Given the description of an element on the screen output the (x, y) to click on. 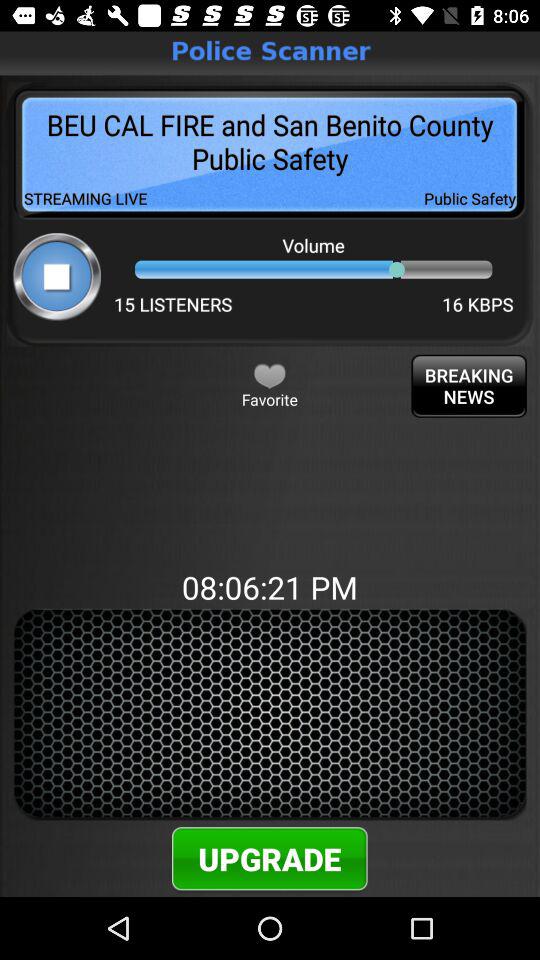
turn off the button to the left of breaking
news item (269, 375)
